Given the description of an element on the screen output the (x, y) to click on. 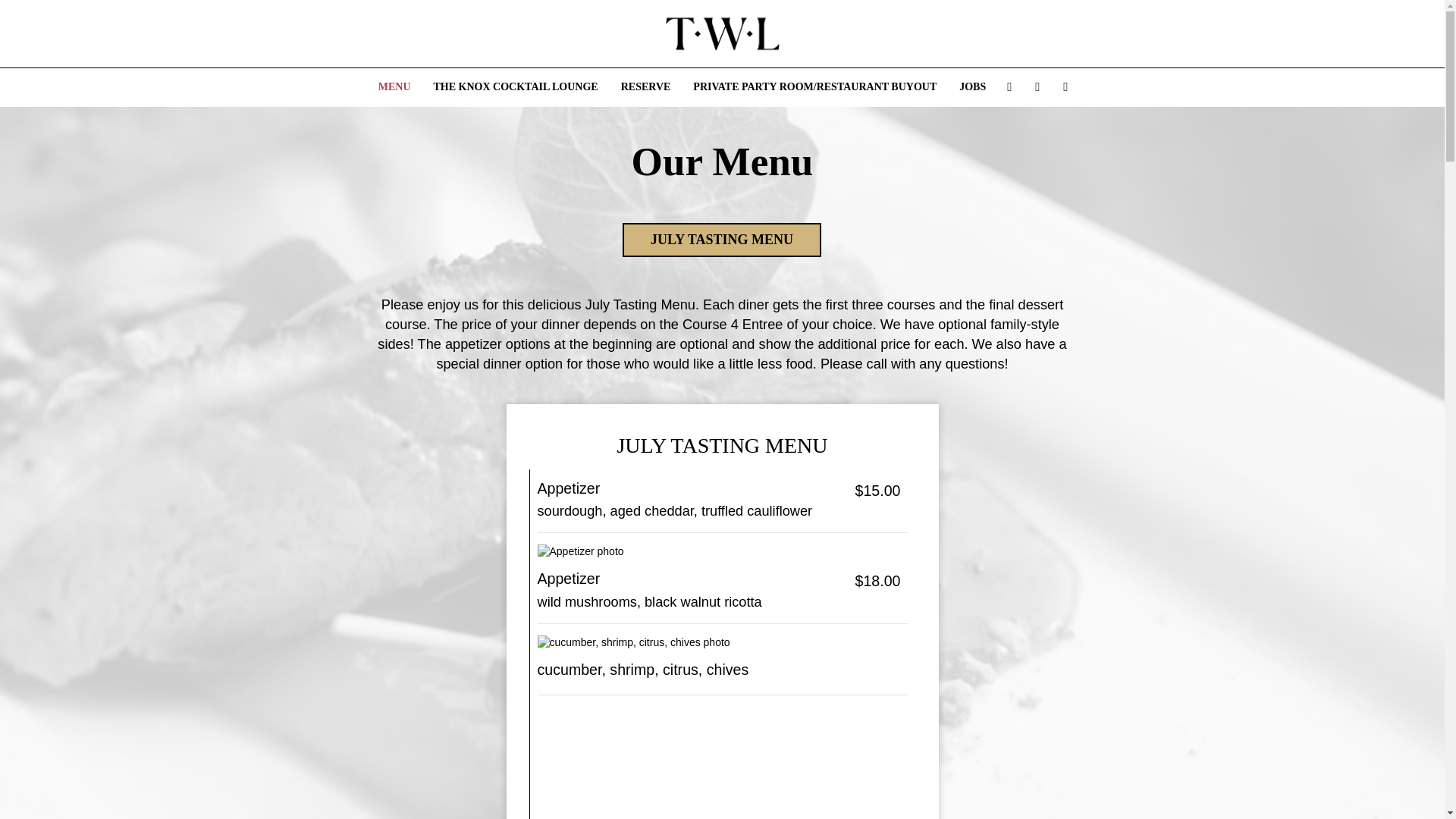
RESERVE (646, 87)
THE KNOX COCKTAIL LOUNGE (516, 87)
JOBS (972, 87)
JULY TASTING MENU (722, 239)
MENU (394, 87)
